Given the description of an element on the screen output the (x, y) to click on. 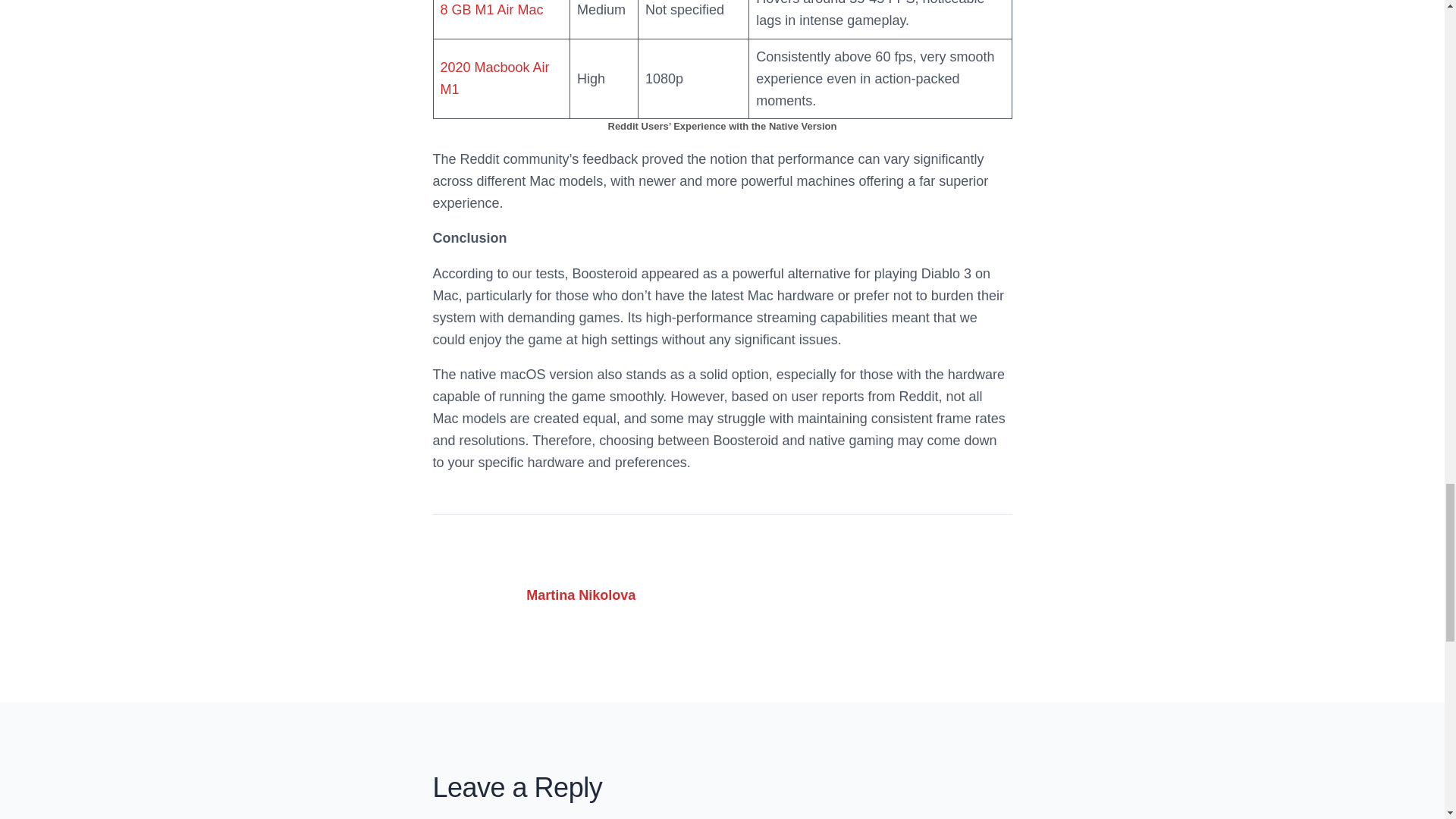
8 (442, 9)
